Given the description of an element on the screen output the (x, y) to click on. 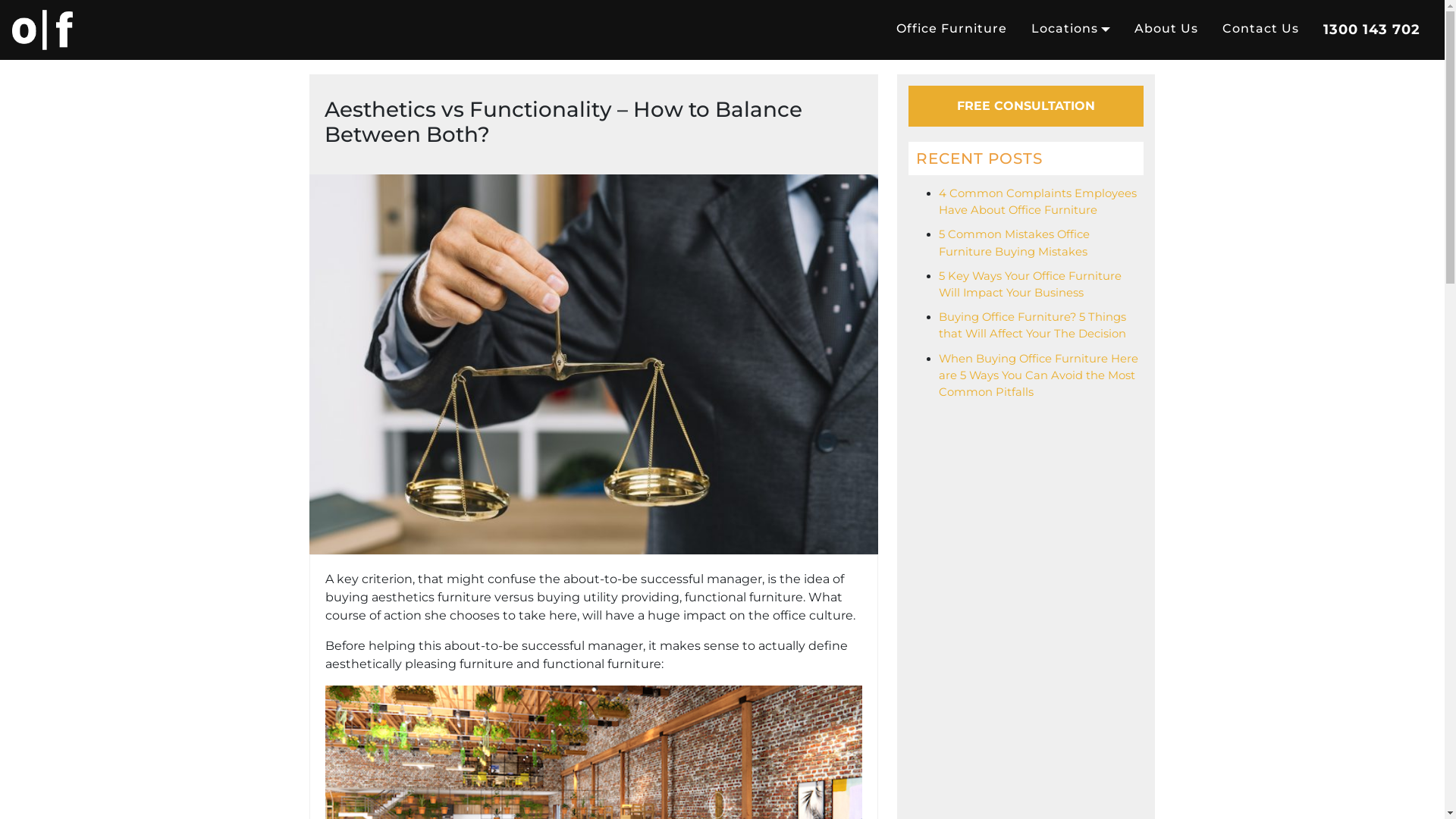
Contact Us Element type: text (1260, 28)
About Us Element type: text (1166, 28)
Skip to content Element type: text (1443, 0)
5 Common Mistakes Office Furniture Buying Mistakes Element type: text (1013, 242)
5 Key Ways Your Office Furniture Will Impact Your Business Element type: text (1029, 284)
1300 143 702 Element type: text (1371, 29)
Office Furniture Element type: text (951, 28)
Locations Element type: text (1070, 28)
FREE CONSULTATION Element type: text (1025, 105)
4 Common Complaints Employees Have About Office Furniture Element type: text (1037, 201)
